Given the description of an element on the screen output the (x, y) to click on. 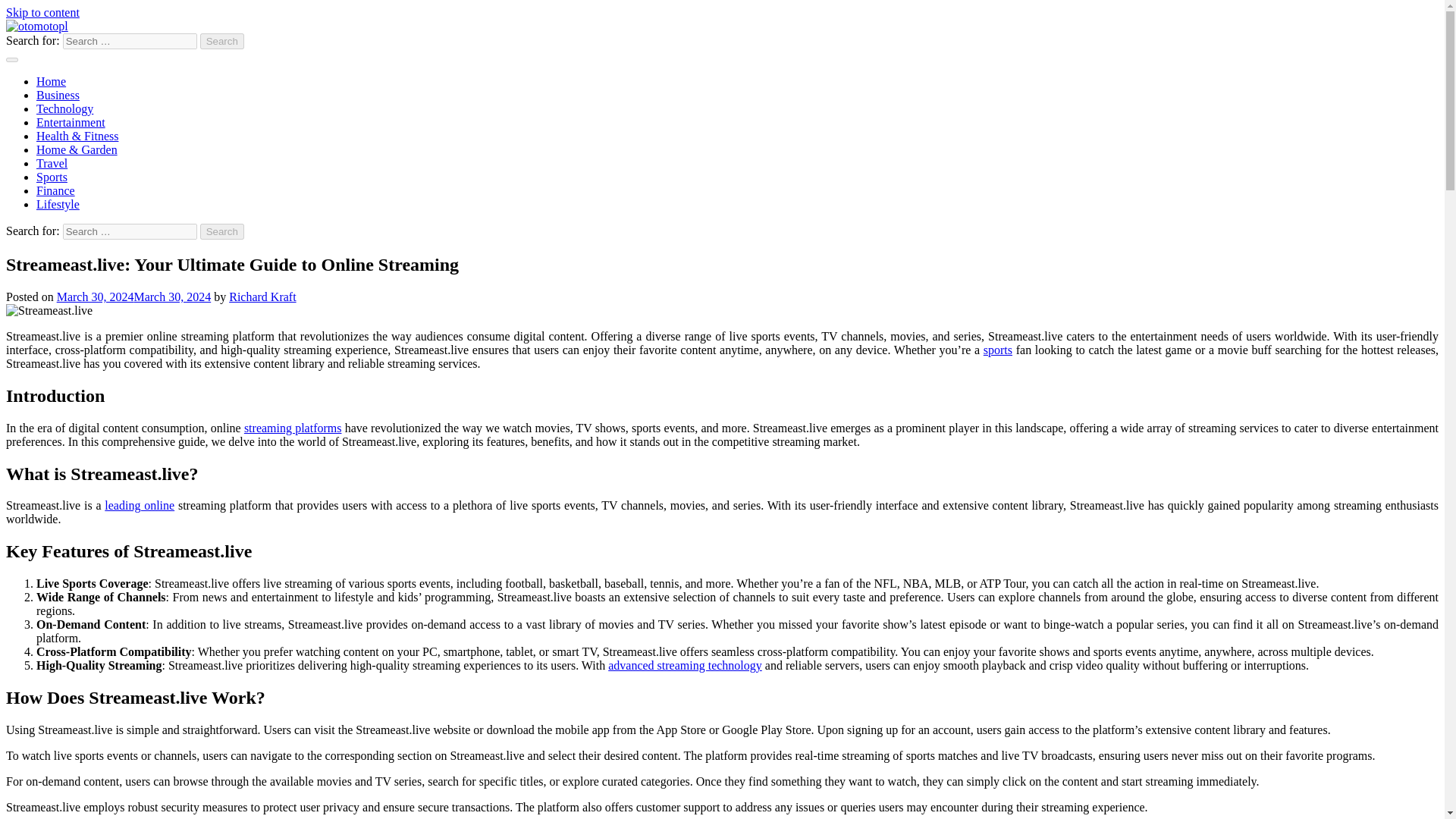
advanced streaming technology (684, 665)
Richard Kraft (261, 296)
Business (58, 94)
March 30, 2024March 30, 2024 (133, 296)
Home (50, 81)
Travel (51, 163)
Search (222, 231)
Sports (51, 176)
leading online (139, 504)
Finance (55, 190)
